Given the description of an element on the screen output the (x, y) to click on. 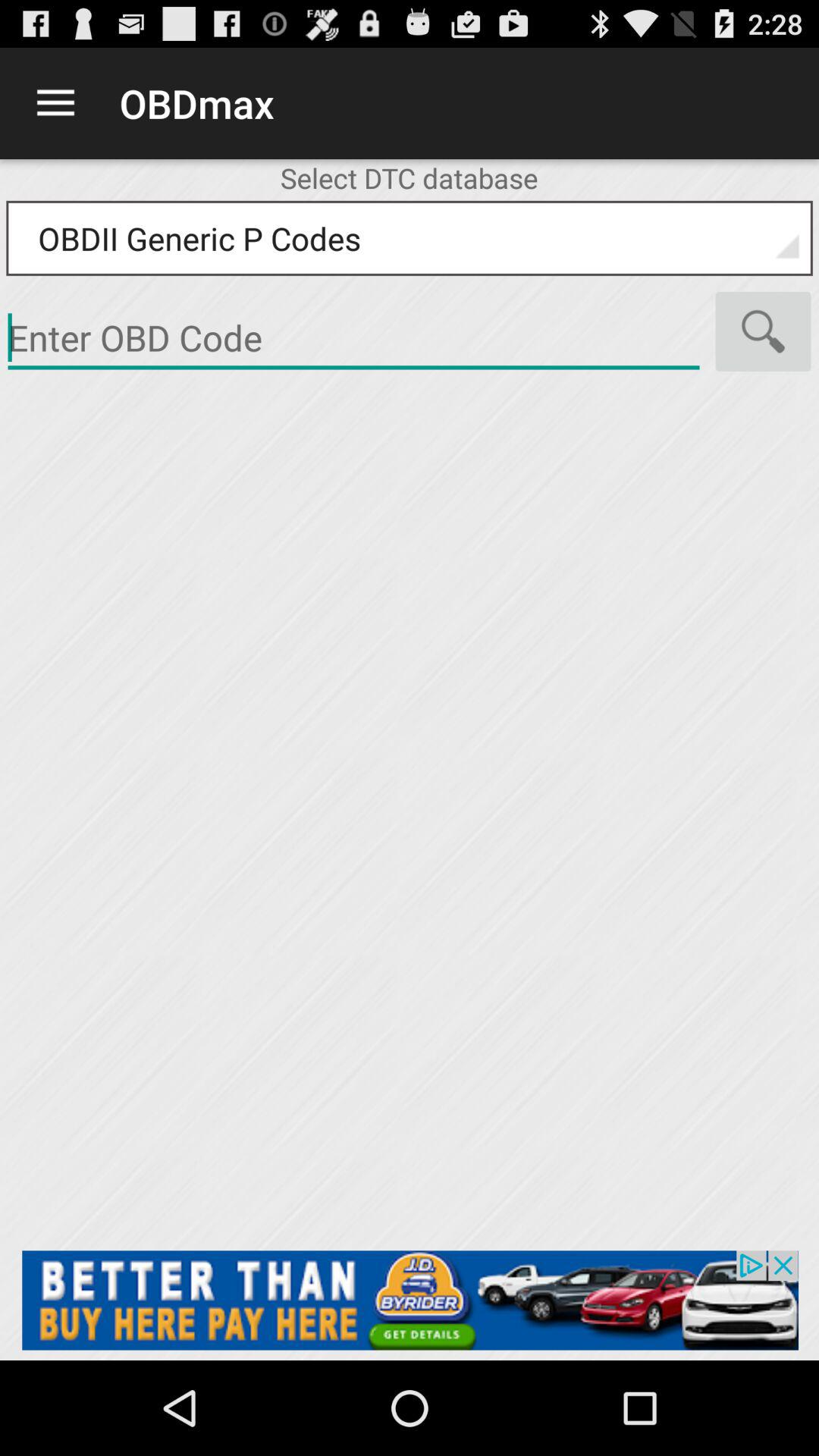
go to search (763, 331)
